Given the description of an element on the screen output the (x, y) to click on. 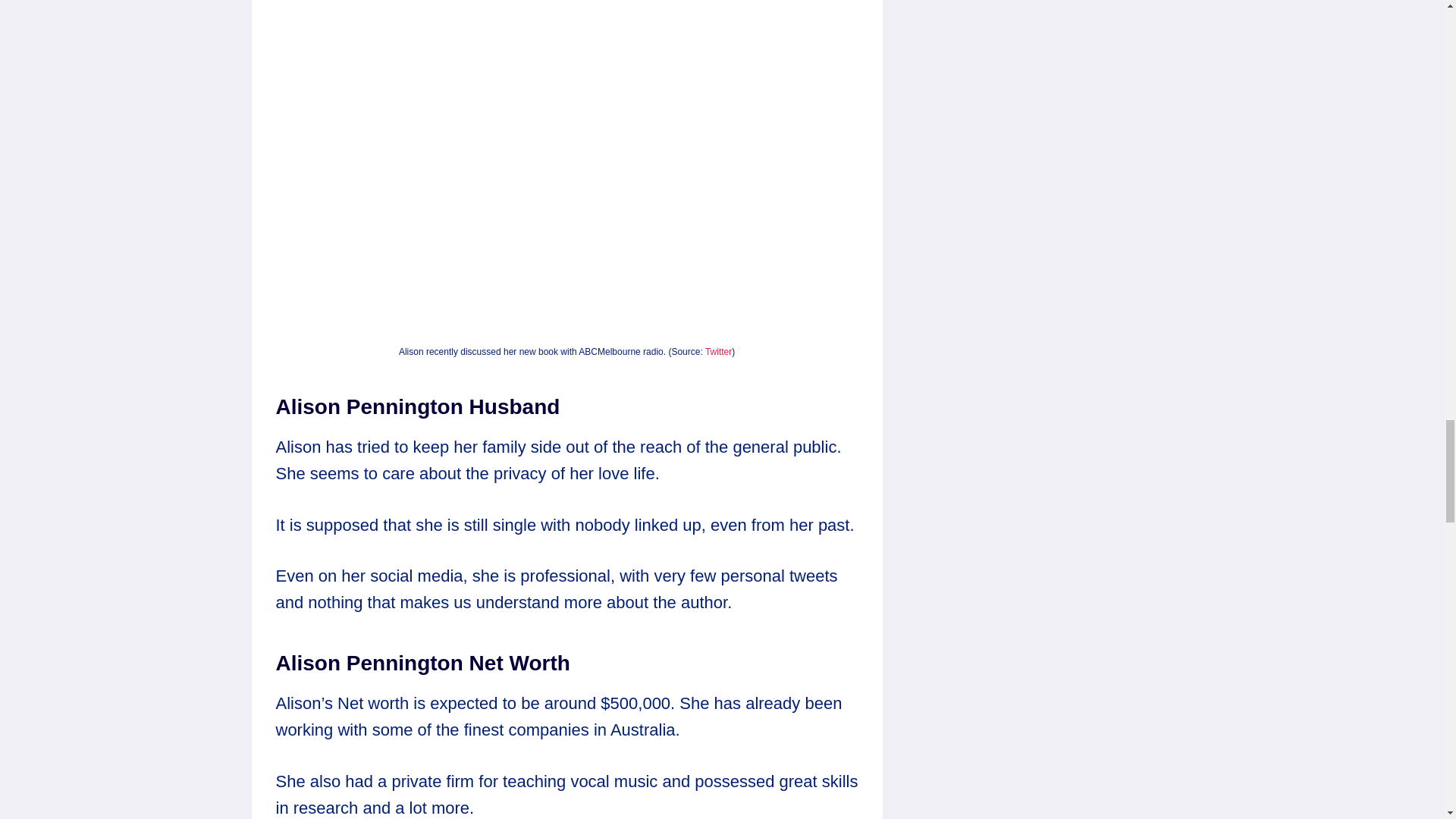
Twitter (718, 351)
